Given the description of an element on the screen output the (x, y) to click on. 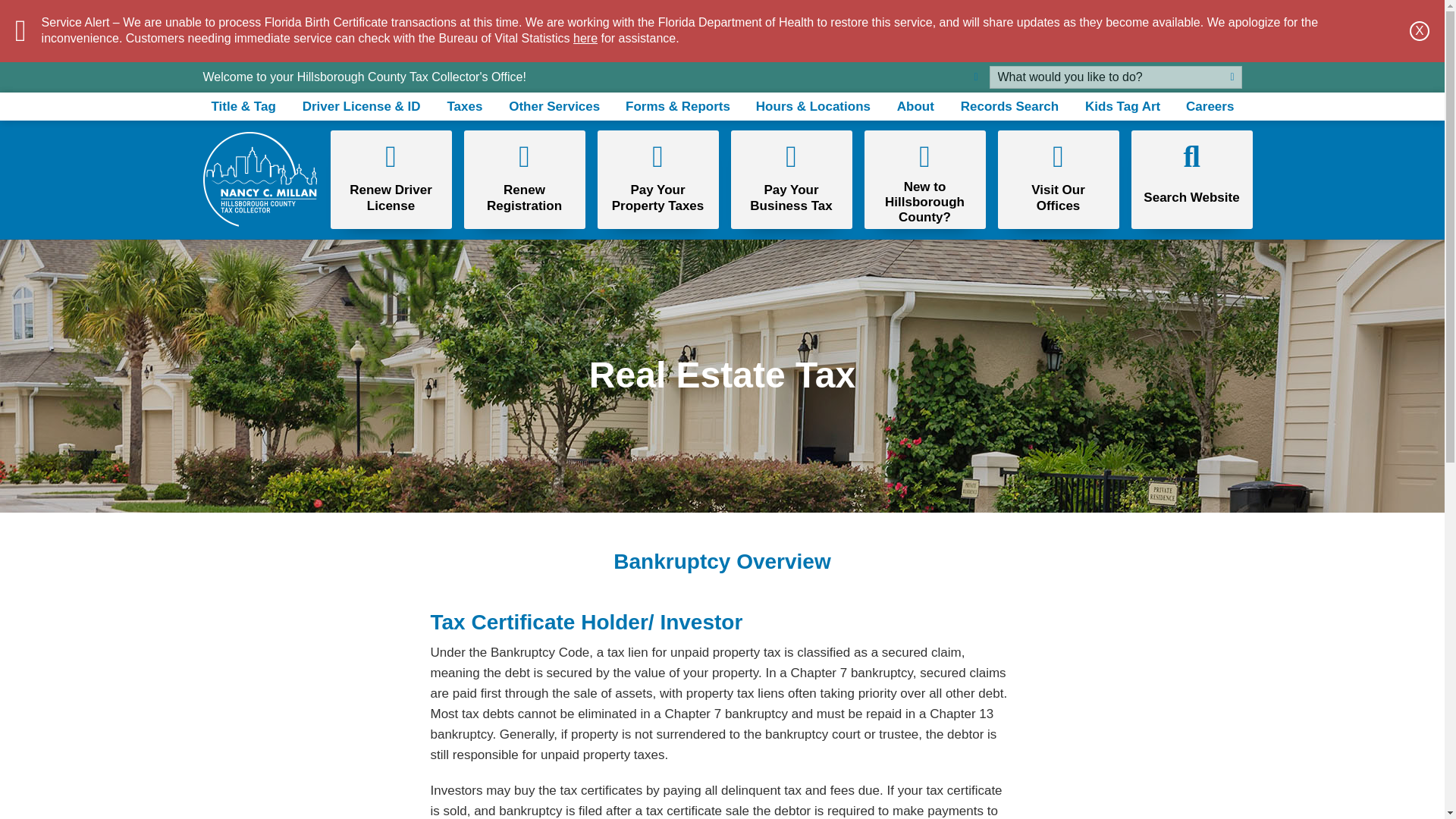
X (1419, 30)
here (584, 38)
